Given the description of an element on the screen output the (x, y) to click on. 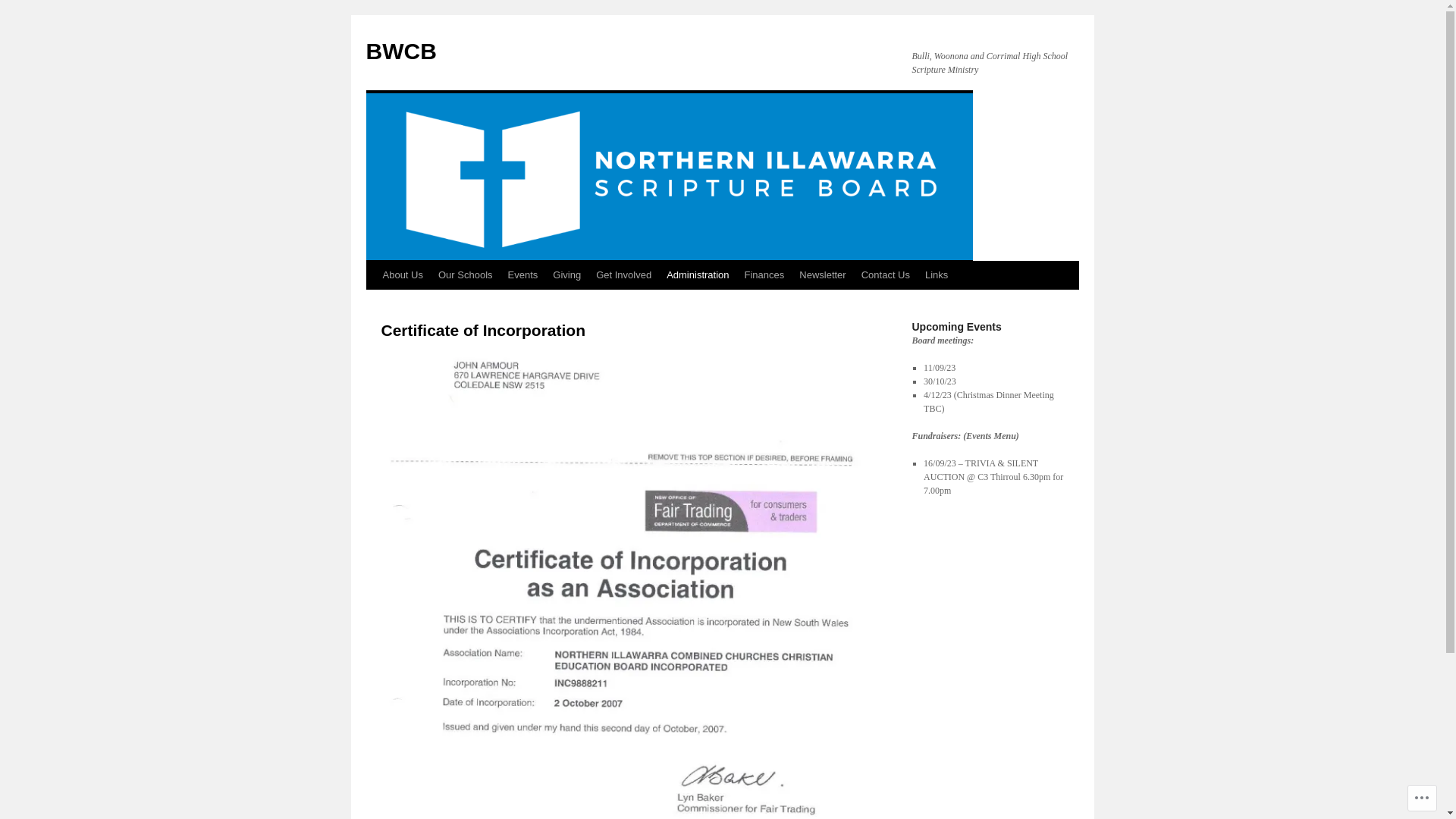
Our Schools Element type: text (465, 274)
Newsletter Element type: text (822, 274)
Giving Element type: text (566, 274)
Get Involved Element type: text (623, 274)
Contact Us Element type: text (885, 274)
Links Element type: text (936, 274)
Administration Element type: text (697, 274)
BWCB Element type: text (400, 50)
Finances Element type: text (764, 274)
Events Element type: text (523, 274)
About Us Element type: text (401, 274)
